Given the description of an element on the screen output the (x, y) to click on. 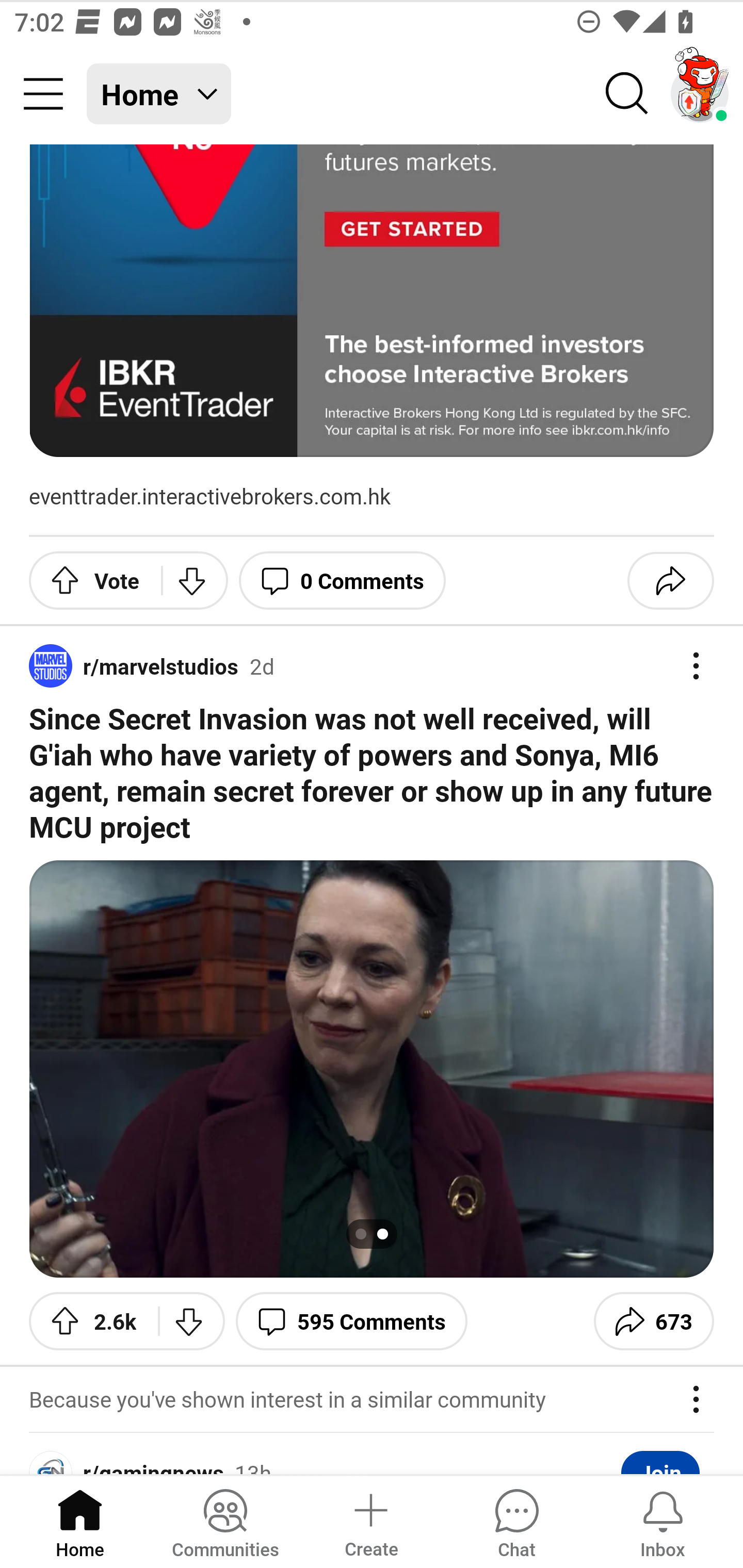
Community menu (43, 93)
Home Home feed (158, 93)
Search (626, 93)
TestAppium002 account (699, 93)
2 of 2, Image, In Image gallery (371, 1068)
Home (80, 1520)
Communities (225, 1520)
Create a post Create (370, 1520)
Chat (516, 1520)
Inbox (662, 1520)
